Given the description of an element on the screen output the (x, y) to click on. 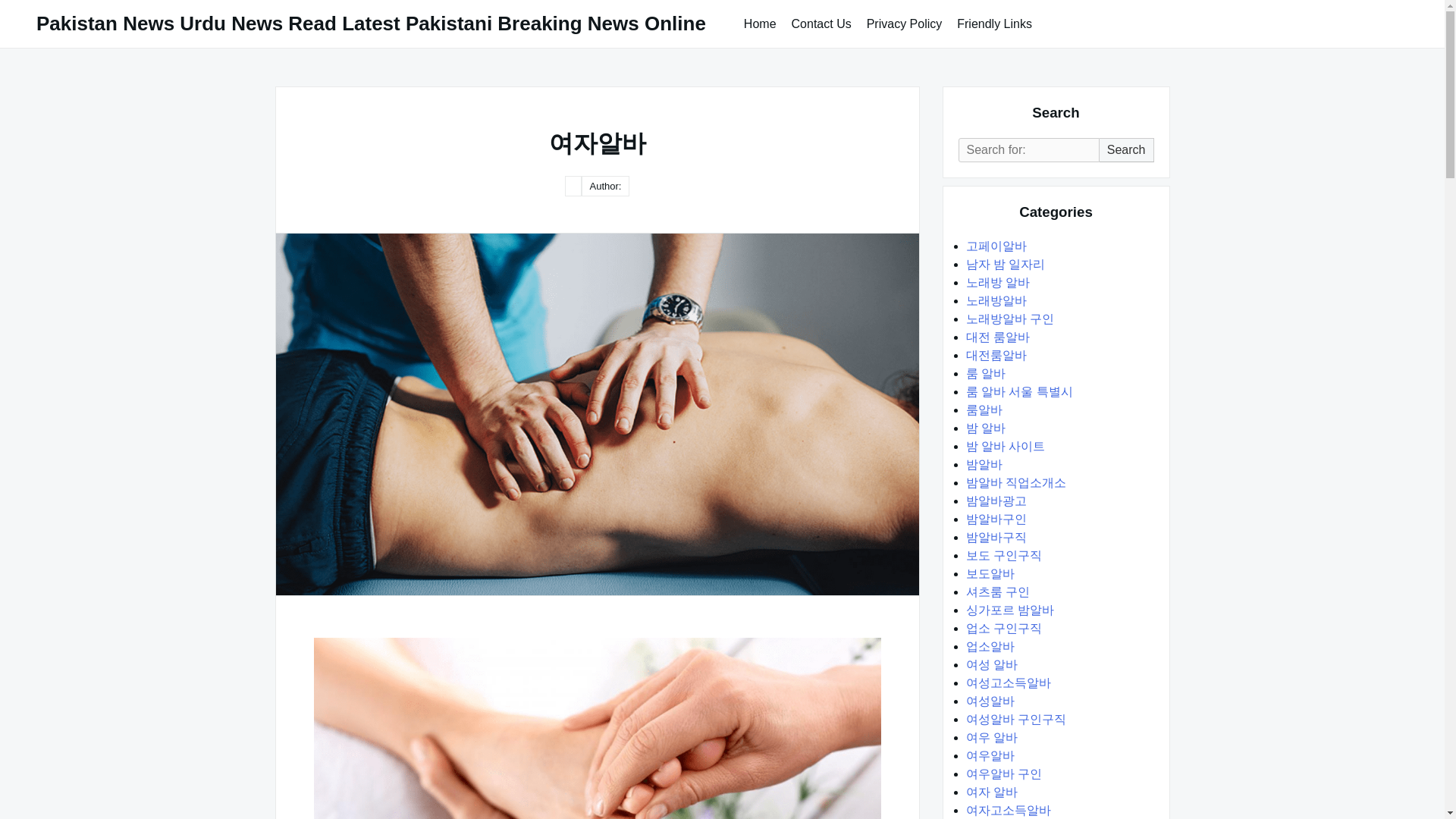
Privacy Policy (904, 23)
Home (760, 23)
Friendly Links (994, 23)
Search (1126, 150)
Contact Us (821, 23)
